Given the description of an element on the screen output the (x, y) to click on. 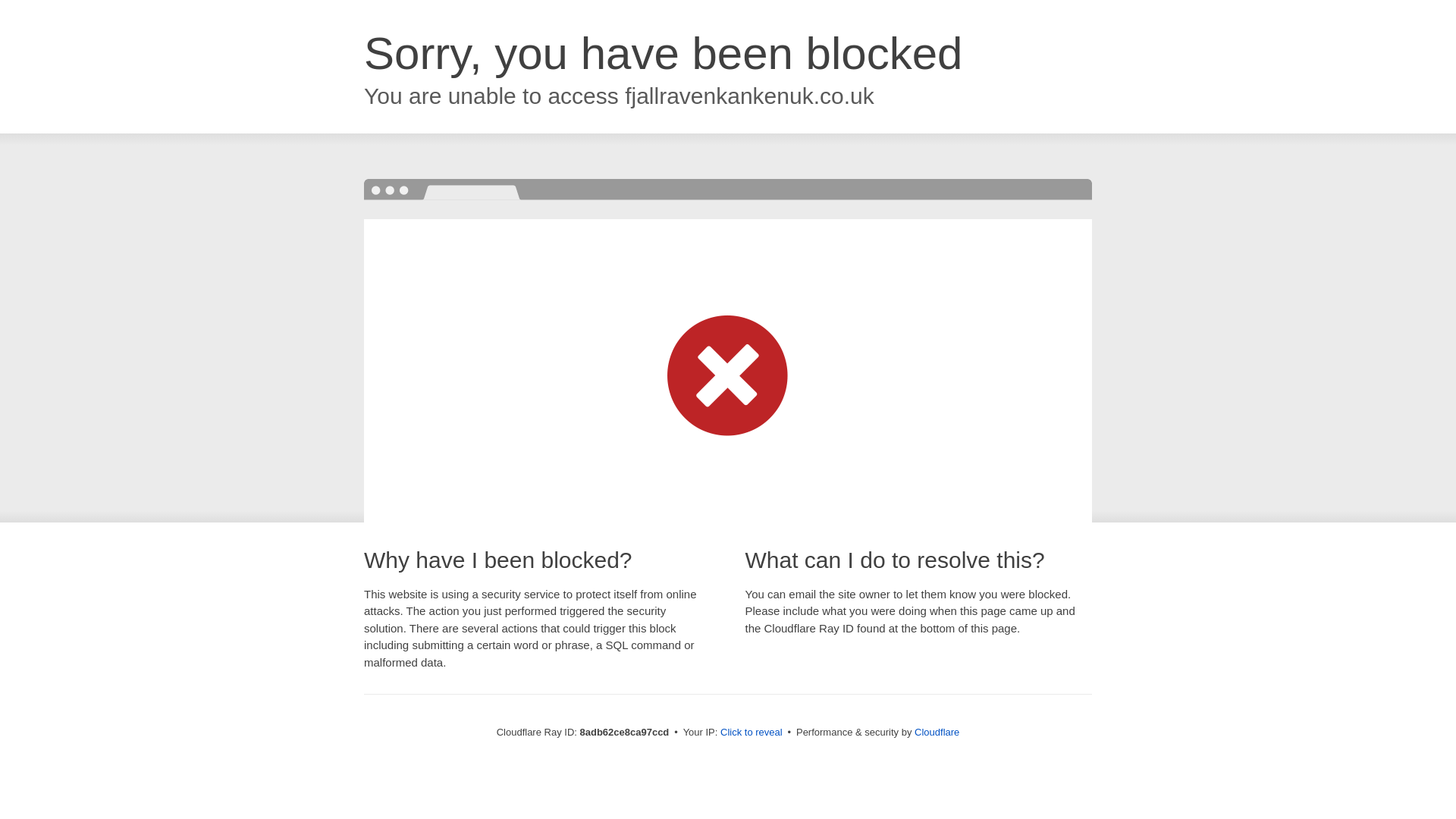
Cloudflare (936, 731)
Click to reveal (751, 732)
